Given the description of an element on the screen output the (x, y) to click on. 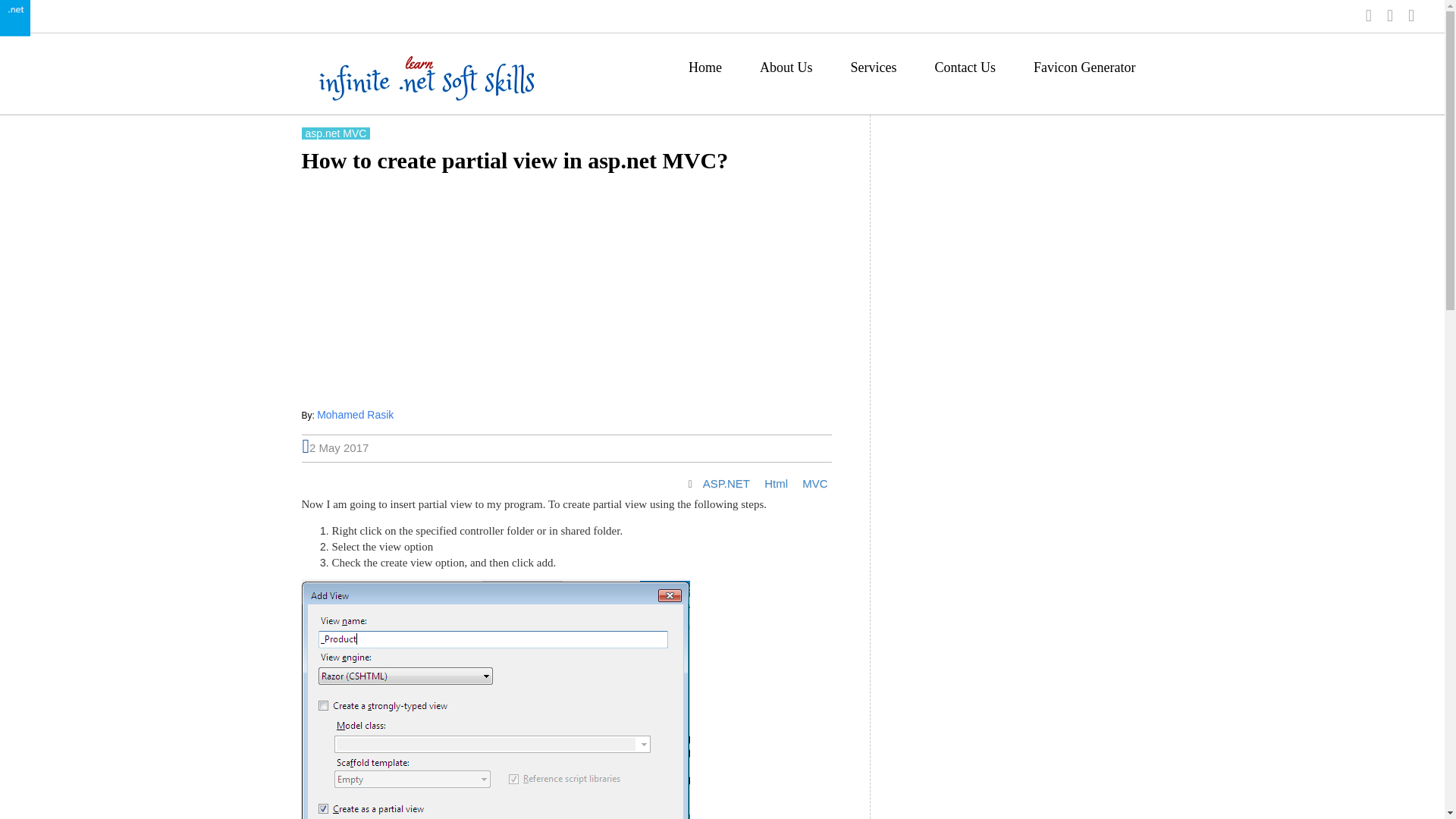
See all posts in Mohamed Rasik (355, 414)
Services (874, 70)
about us (786, 70)
Contact Us (965, 70)
See all posts in ASP.NET (724, 483)
About Us (786, 70)
ASP.NET (724, 483)
Advertisement (566, 292)
Infinetsoft welcomes you! (400, 78)
Favicon Generator (1084, 70)
